Given the description of an element on the screen output the (x, y) to click on. 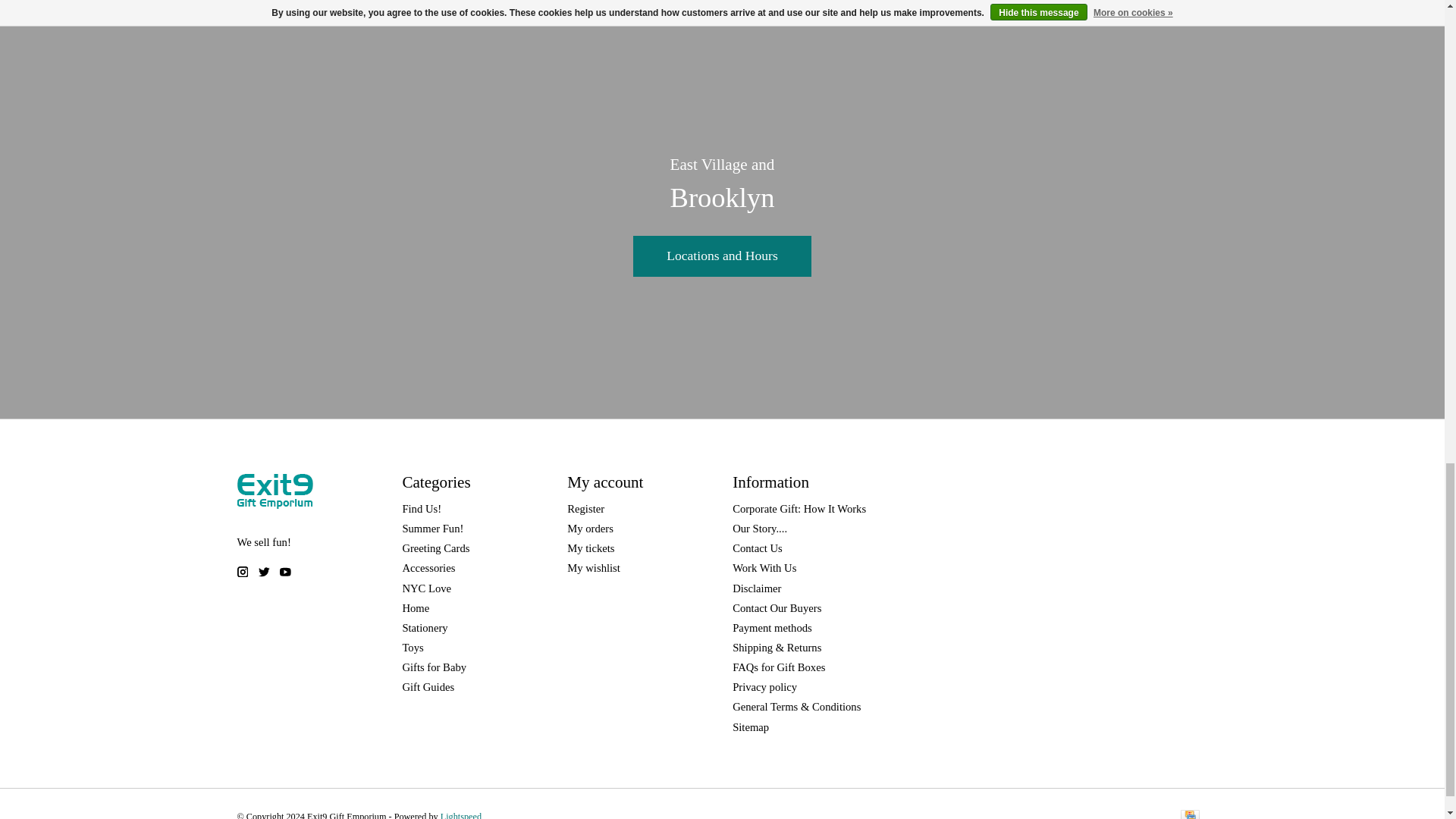
Corporate Gift:  How It Works (799, 508)
Work With Us (764, 567)
Our Story.... (759, 528)
Contact Our Buyers (776, 607)
Disclaimer (756, 588)
My orders (589, 528)
My wishlist (593, 567)
Register (585, 508)
My tickets (590, 548)
Contact Us (757, 548)
